Given the description of an element on the screen output the (x, y) to click on. 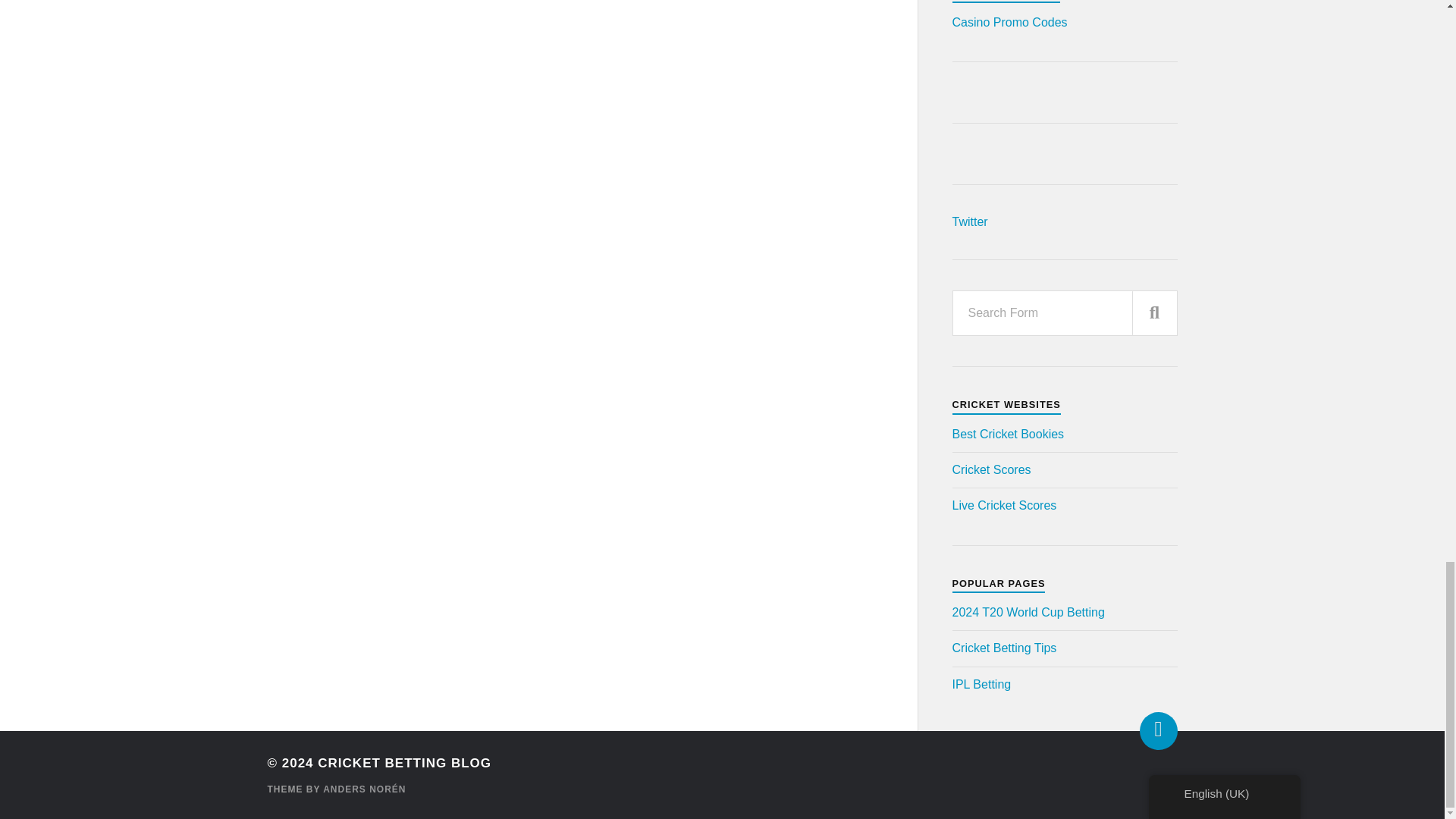
Latest Free Cricket Betting Tips (1004, 647)
All you need to know about betting on 2024 IPL (981, 684)
Betting Guide to 2024 T20 World Cup (1028, 612)
Find The Top Paying Casino Welcome Bonuses  (1009, 21)
